Given the description of an element on the screen output the (x, y) to click on. 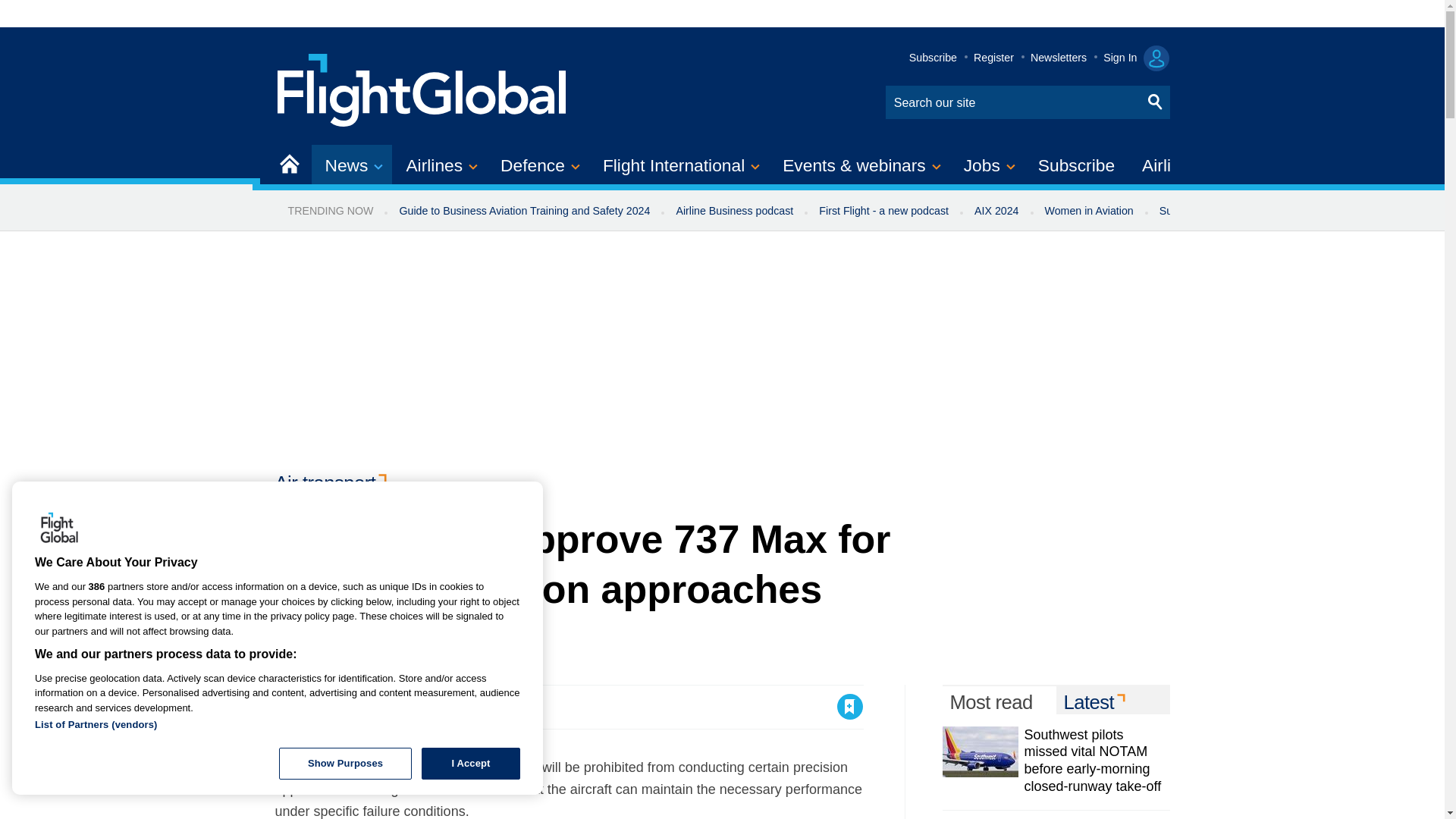
Share this on Linked in (352, 706)
Women in Aviation (1089, 210)
Site name (422, 88)
Share this on Facebook (288, 706)
AIX 2024 (996, 210)
Flight Global Logo (58, 528)
Guide to Business Aviation Training and Safety 2024 (523, 210)
Airline Business podcast (734, 210)
First Flight - a new podcast (883, 210)
Share this on Twitter (320, 706)
Sustainable Aviation newsletter (1234, 210)
Email this article (386, 706)
